Given the description of an element on the screen output the (x, y) to click on. 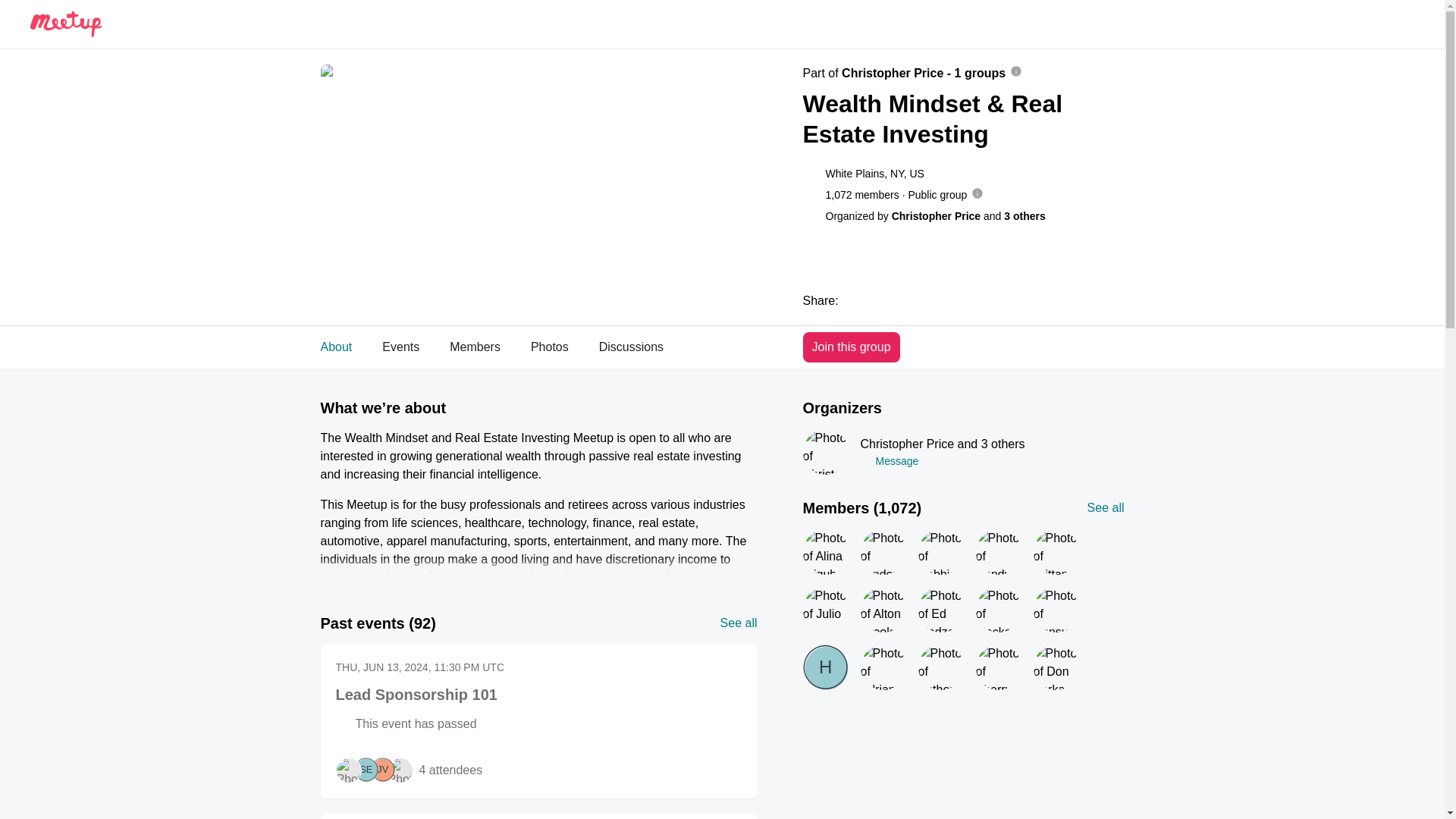
SE (365, 769)
Christopher Price (824, 452)
Christopher Price and 3 others (942, 443)
H (561, 347)
Twitter (824, 667)
See all (900, 300)
Email (1105, 507)
H (949, 300)
Events (963, 612)
Message (400, 347)
Email (942, 460)
Organized by Christopher Price and 3 others (948, 300)
See group members (935, 215)
